Given the description of an element on the screen output the (x, y) to click on. 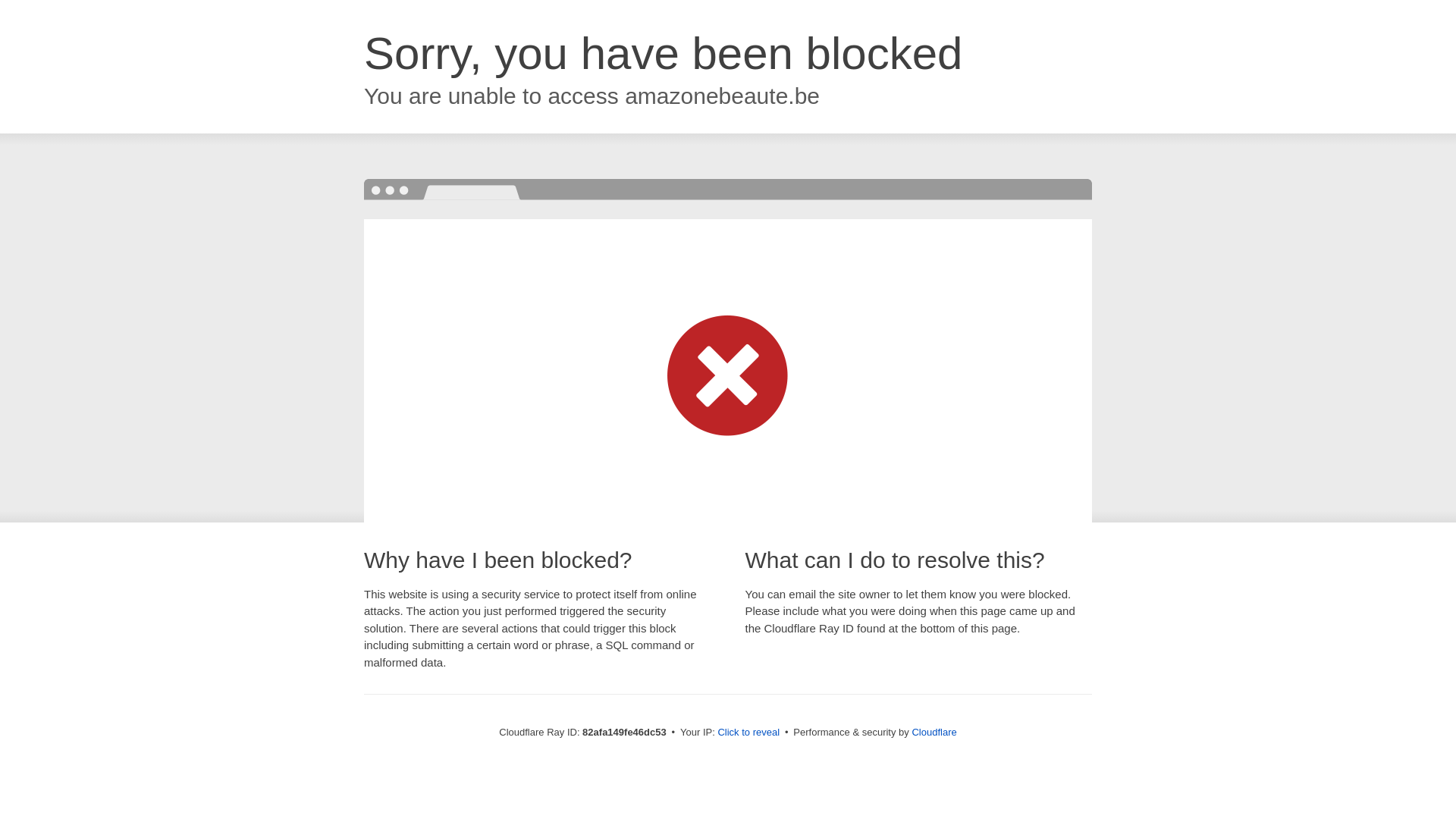
Cloudflare Element type: text (933, 731)
Click to reveal Element type: text (748, 732)
